Given the description of an element on the screen output the (x, y) to click on. 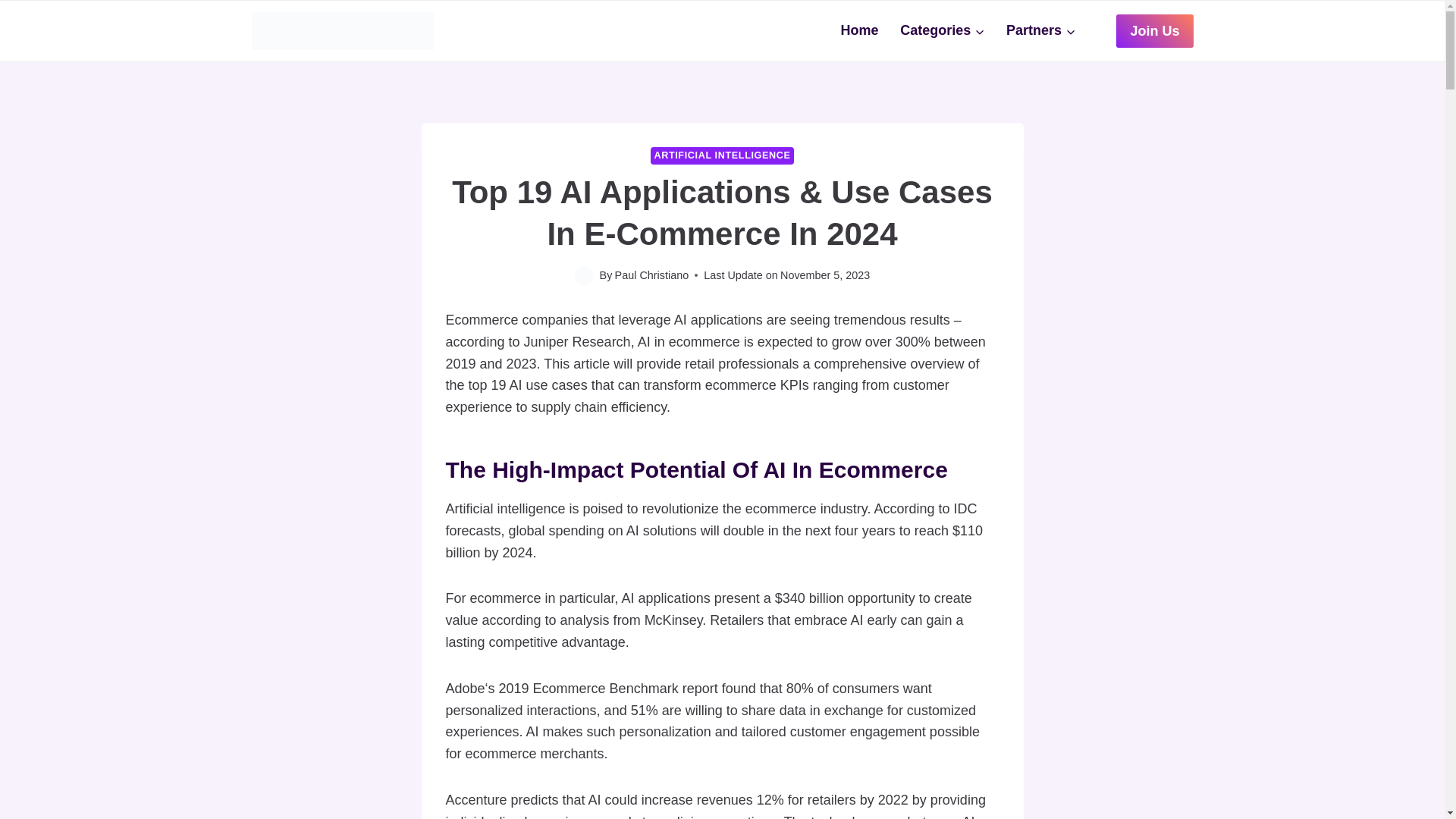
Categories (942, 30)
ARTIFICIAL INTELLIGENCE (721, 155)
Partners (1040, 30)
Join Us (1154, 30)
Home (859, 30)
